Given the description of an element on the screen output the (x, y) to click on. 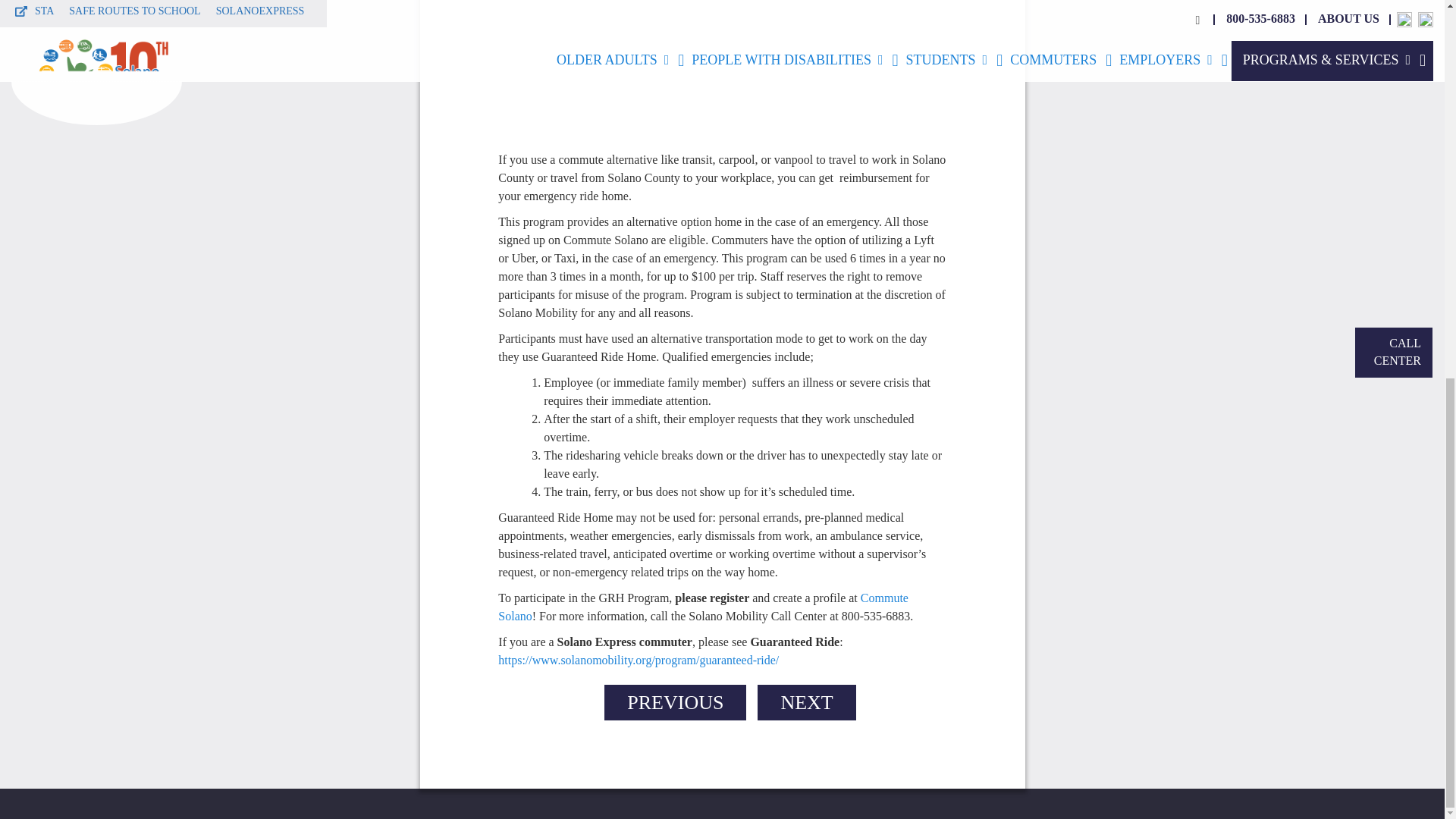
NEXT (806, 702)
Commute Solano (702, 606)
PREVIOUS (674, 702)
